Given the description of an element on the screen output the (x, y) to click on. 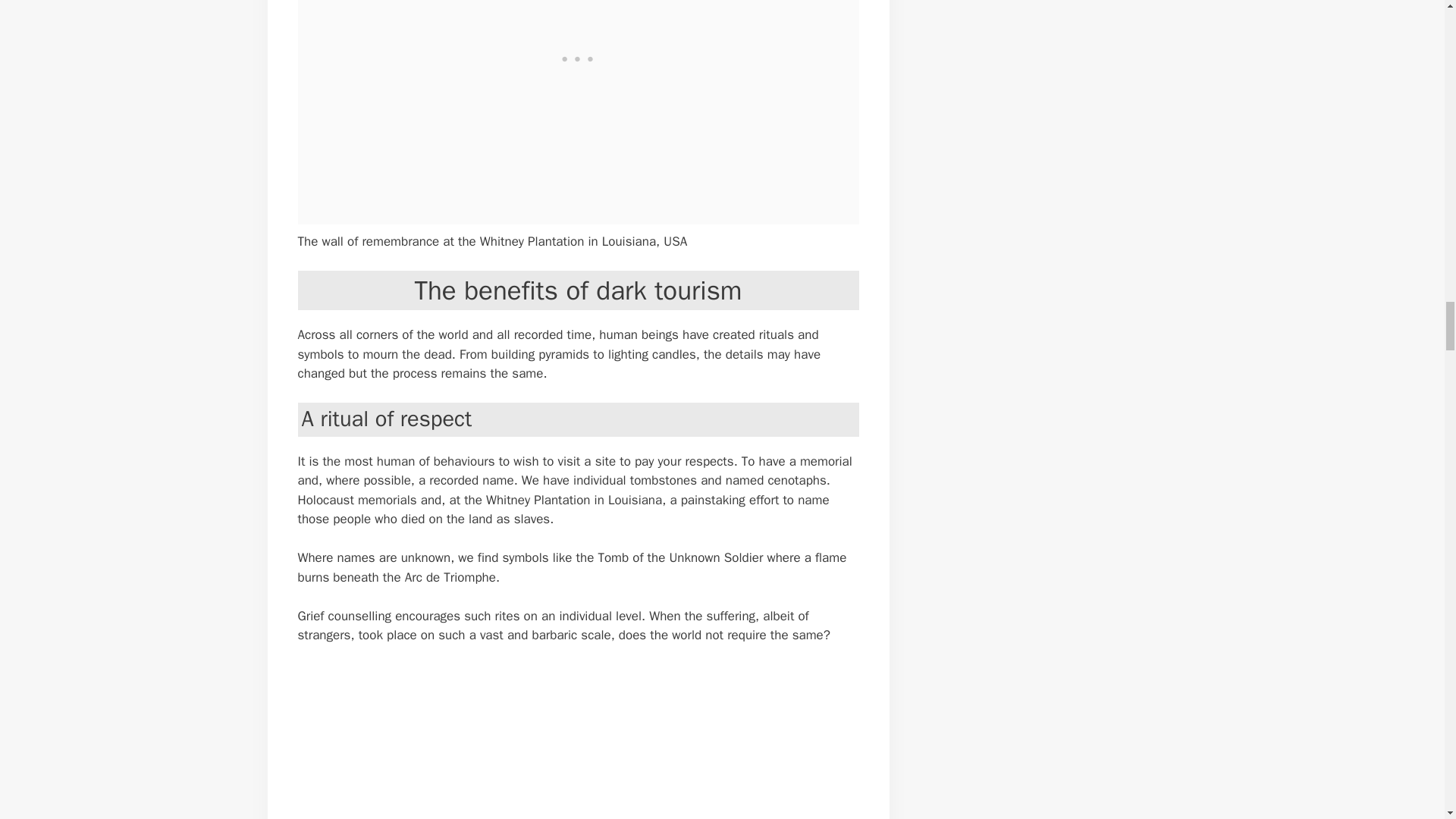
Dark tourism - Anne Frank house in Amsterdam (547, 741)
